Given the description of an element on the screen output the (x, y) to click on. 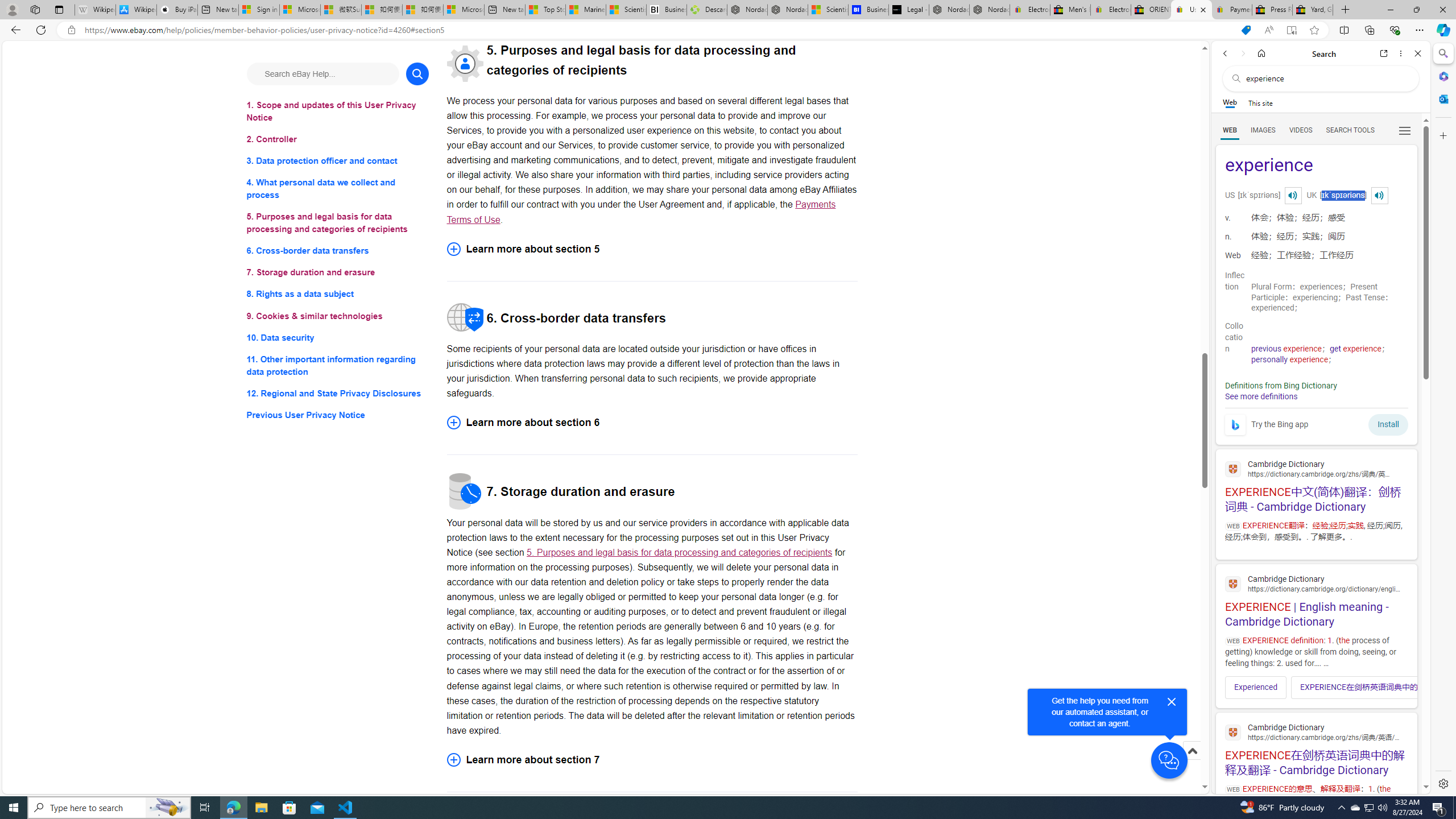
EXPERIENCE | English meaning - Cambridge Dictionary (1315, 599)
Preferences (1403, 129)
get experience (1355, 348)
Learn more about section 5 (651, 248)
4. What personal data we collect and process (337, 189)
User Privacy Notice | eBay (1191, 9)
9. Cookies & similar technologies (337, 315)
11. Other important information regarding data protection (337, 365)
Nordace - Summer Adventures 2024 (949, 9)
